Given the description of an element on the screen output the (x, y) to click on. 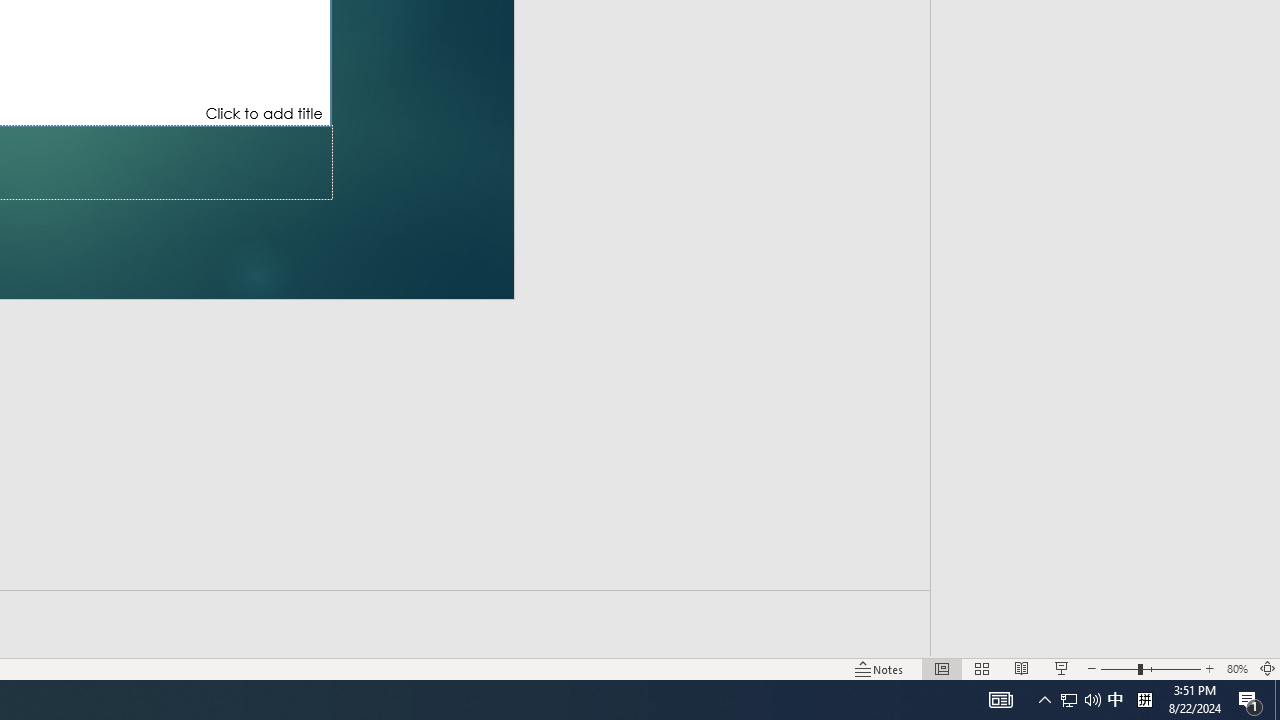
Bulgarian (1103, 121)
Chinese Traditional (1103, 367)
Zoom 80% (1236, 668)
Dari (1103, 531)
Danish (1103, 490)
Catalan (1103, 202)
Dogri (1103, 613)
Chhattisgarhi (1103, 243)
Chinese (Literary) (1103, 285)
